Given the description of an element on the screen output the (x, y) to click on. 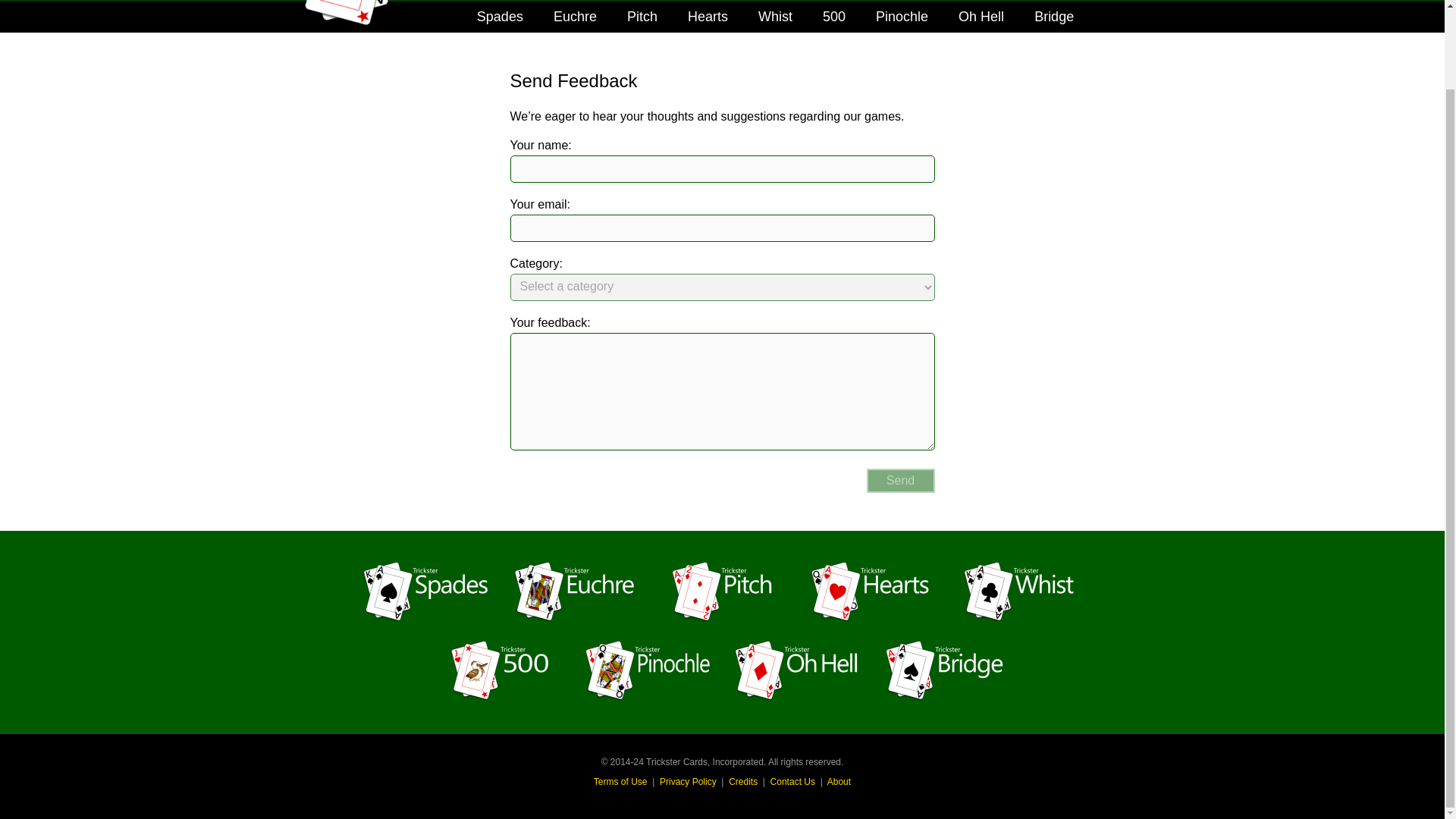
Credits (743, 781)
Bridge (1054, 16)
Spades (499, 16)
Whist (775, 16)
Hearts (707, 16)
Privacy Policy (687, 781)
Euchre (574, 16)
Pitch (641, 16)
Terms of Use (620, 781)
About (838, 781)
Oh Hell (981, 16)
Send (900, 480)
500 (834, 16)
Pinochle (901, 16)
Contact Us (792, 781)
